Given the description of an element on the screen output the (x, y) to click on. 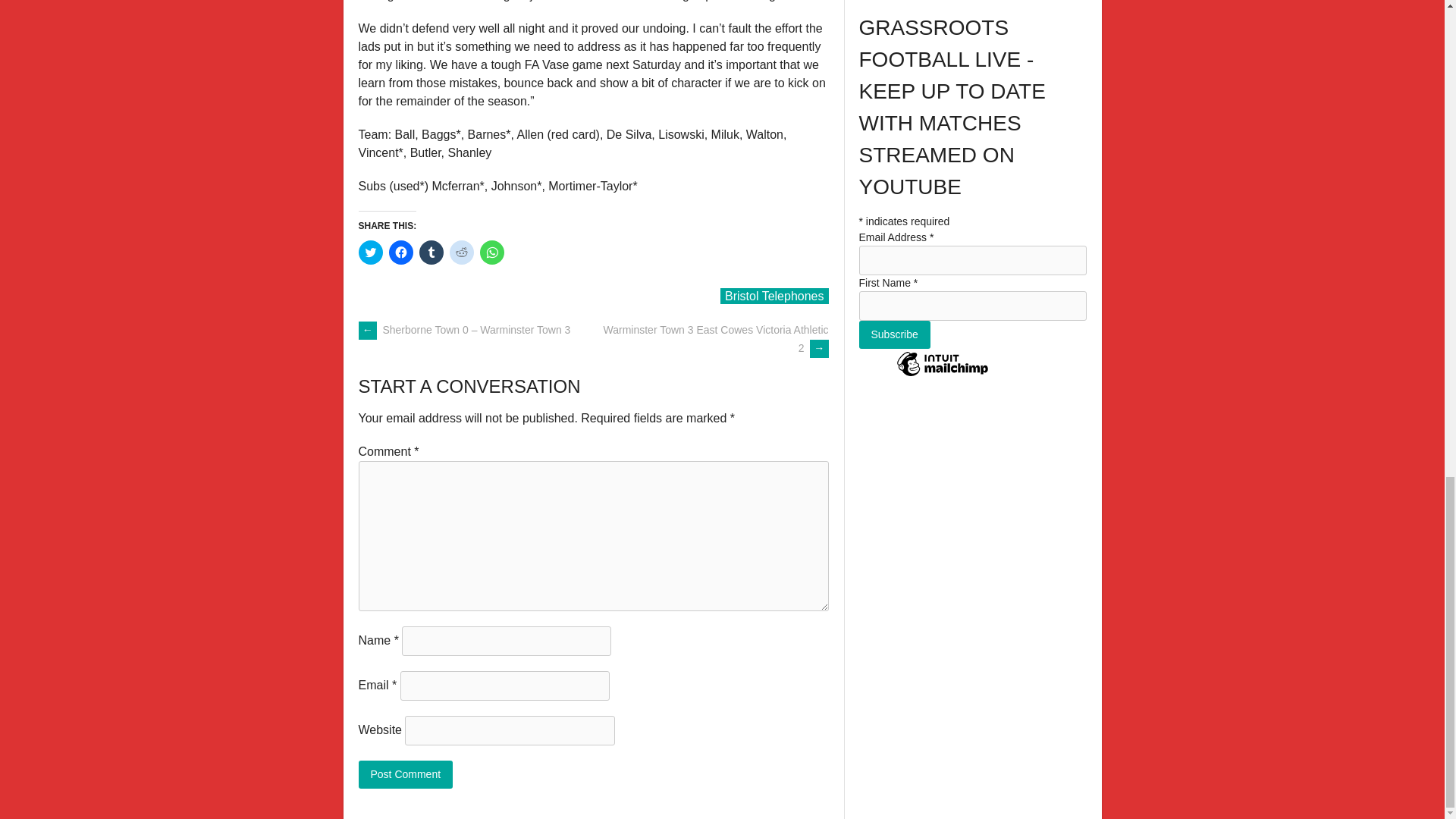
Subscribe (894, 334)
Bristol Telephones (774, 295)
Click to share on WhatsApp (491, 252)
Click to share on Reddit (460, 252)
Click to share on Tumblr (430, 252)
Mailchimp - email marketing made easy and fun (942, 375)
Post Comment (405, 774)
Subscribe (894, 334)
Post Comment (405, 774)
Click to share on Facebook (400, 252)
